Given the description of an element on the screen output the (x, y) to click on. 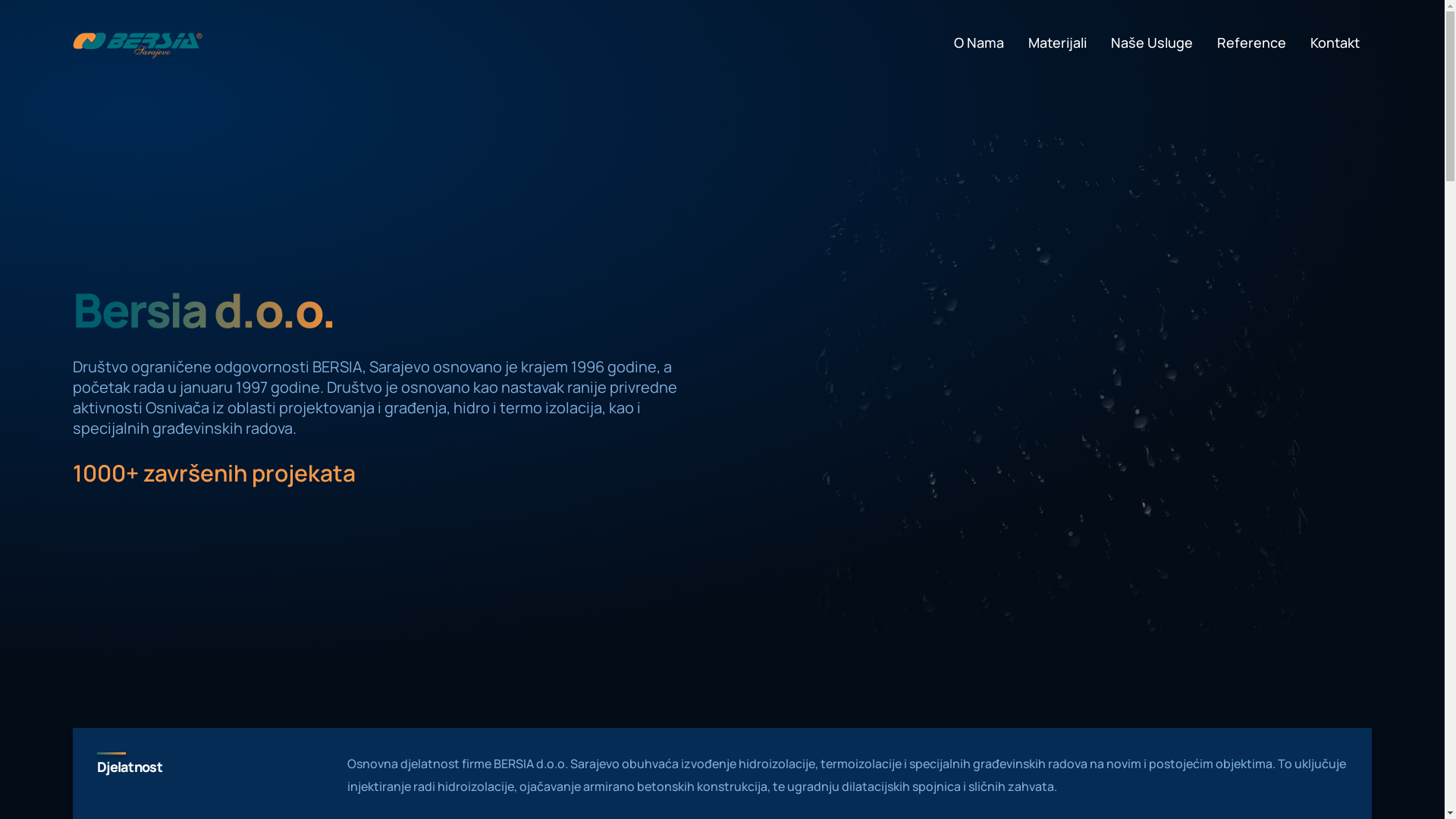
O Nama Element type: text (978, 42)
Reference Element type: text (1251, 42)
Materijali Element type: text (1057, 42)
Kontakt Element type: text (1334, 42)
